Given the description of an element on the screen output the (x, y) to click on. 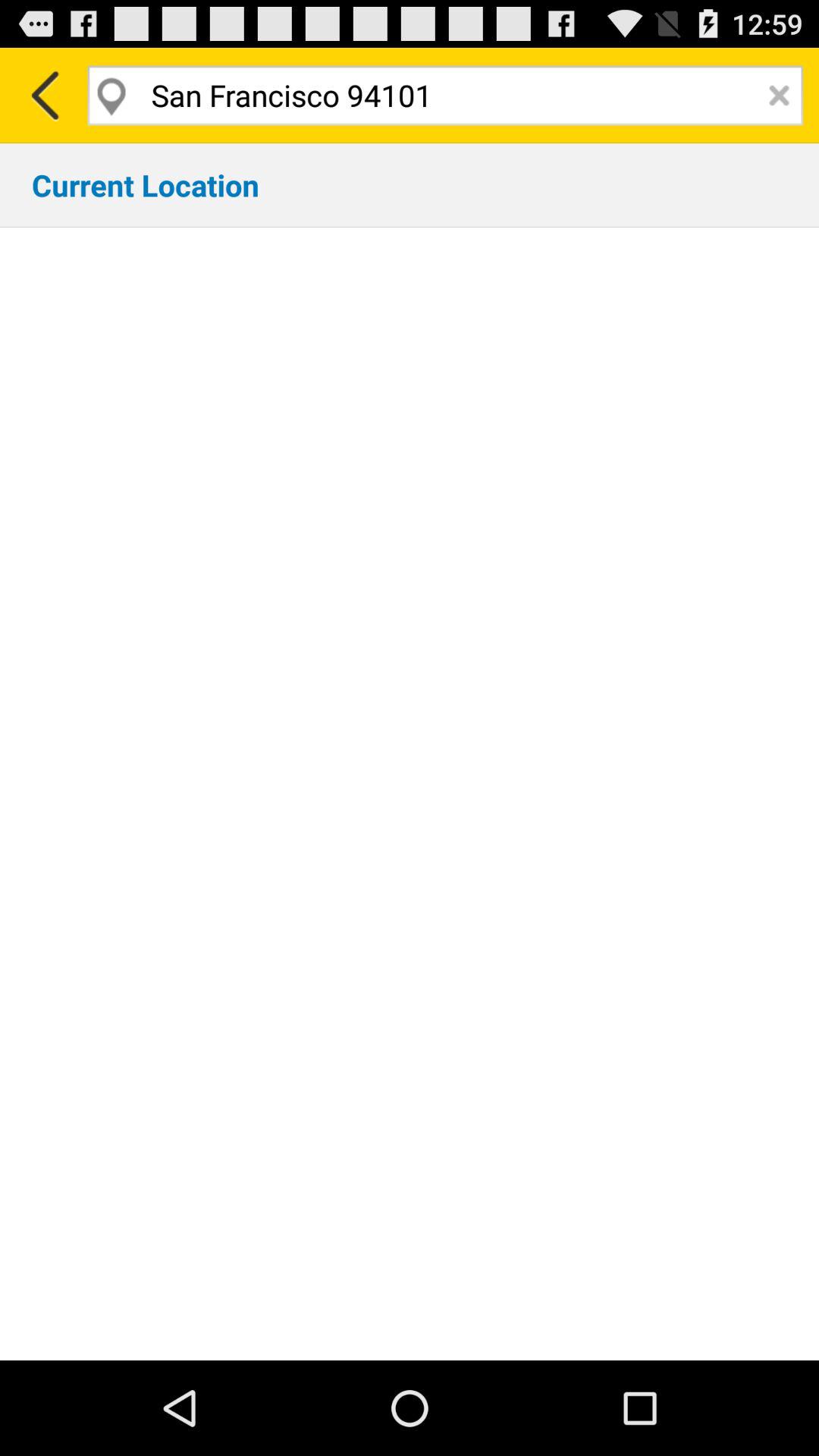
go back to previous (43, 95)
